Given the description of an element on the screen output the (x, y) to click on. 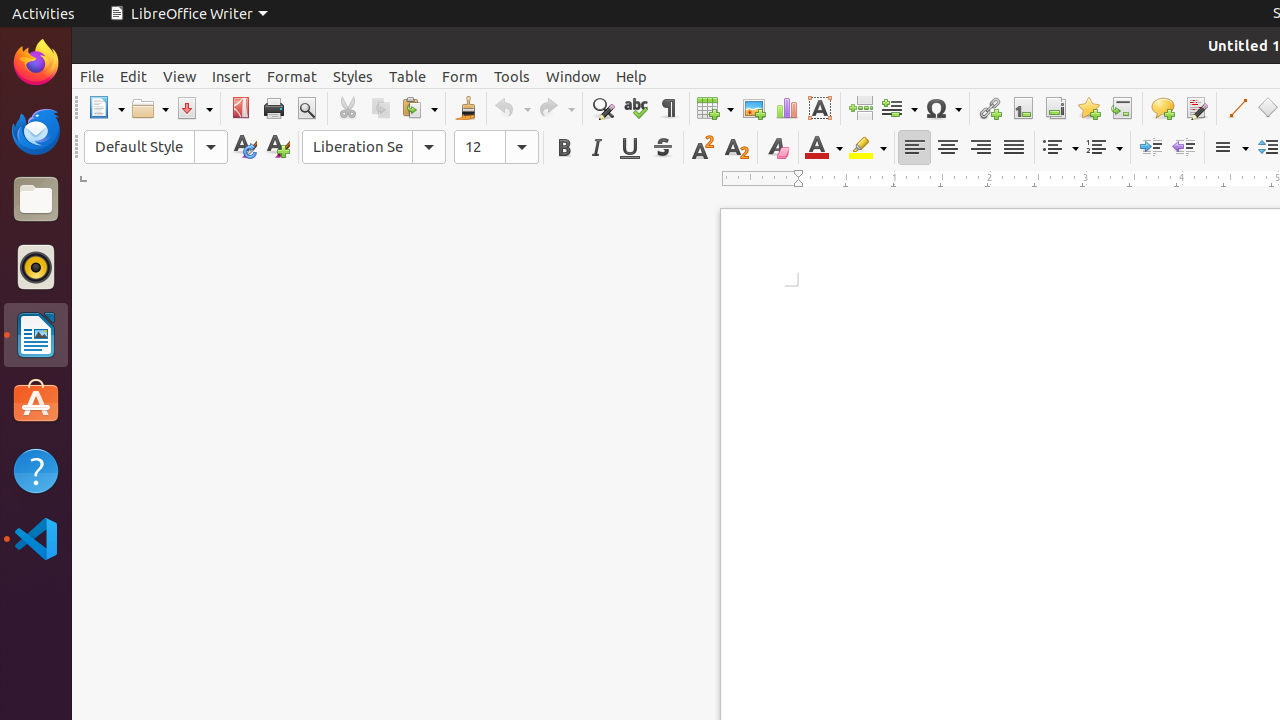
Redo Element type: push-button (556, 108)
Hyperlink Element type: toggle-button (989, 108)
Undo Element type: push-button (512, 108)
Formatting Marks Element type: toggle-button (668, 108)
Field Element type: push-button (899, 108)
